Given the description of an element on the screen output the (x, y) to click on. 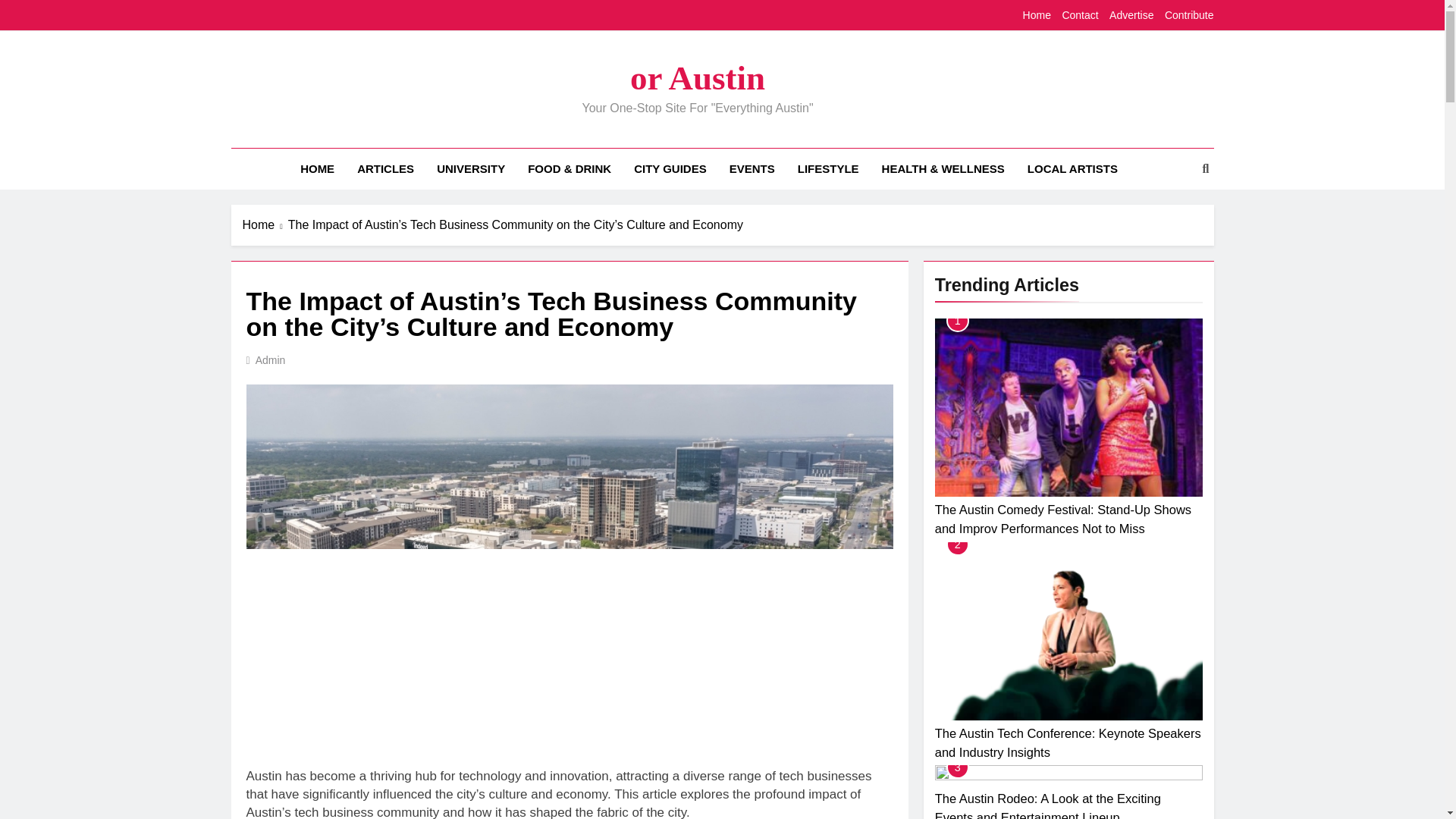
HOME (317, 168)
Advertise (1131, 15)
Home (265, 225)
EVENTS (751, 168)
UNIVERSITY (470, 168)
LIFESTYLE (828, 168)
ARTICLES (385, 168)
Admin (270, 359)
or Austin (697, 77)
Home (1037, 15)
Contribute (1189, 15)
Contact (1079, 15)
LOCAL ARTISTS (1072, 168)
CITY GUIDES (670, 168)
